Given the description of an element on the screen output the (x, y) to click on. 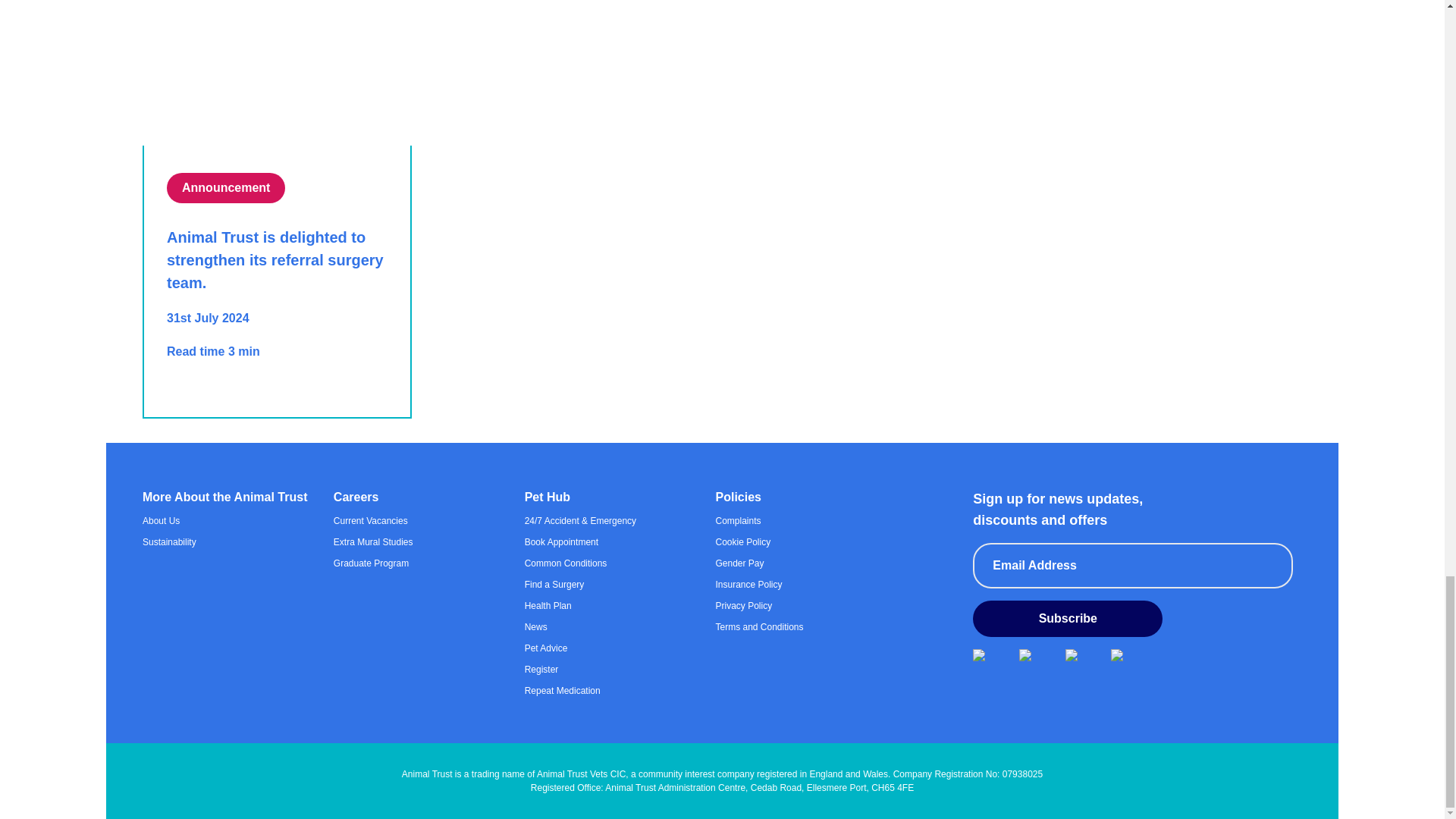
About Us (230, 520)
